Given the description of an element on the screen output the (x, y) to click on. 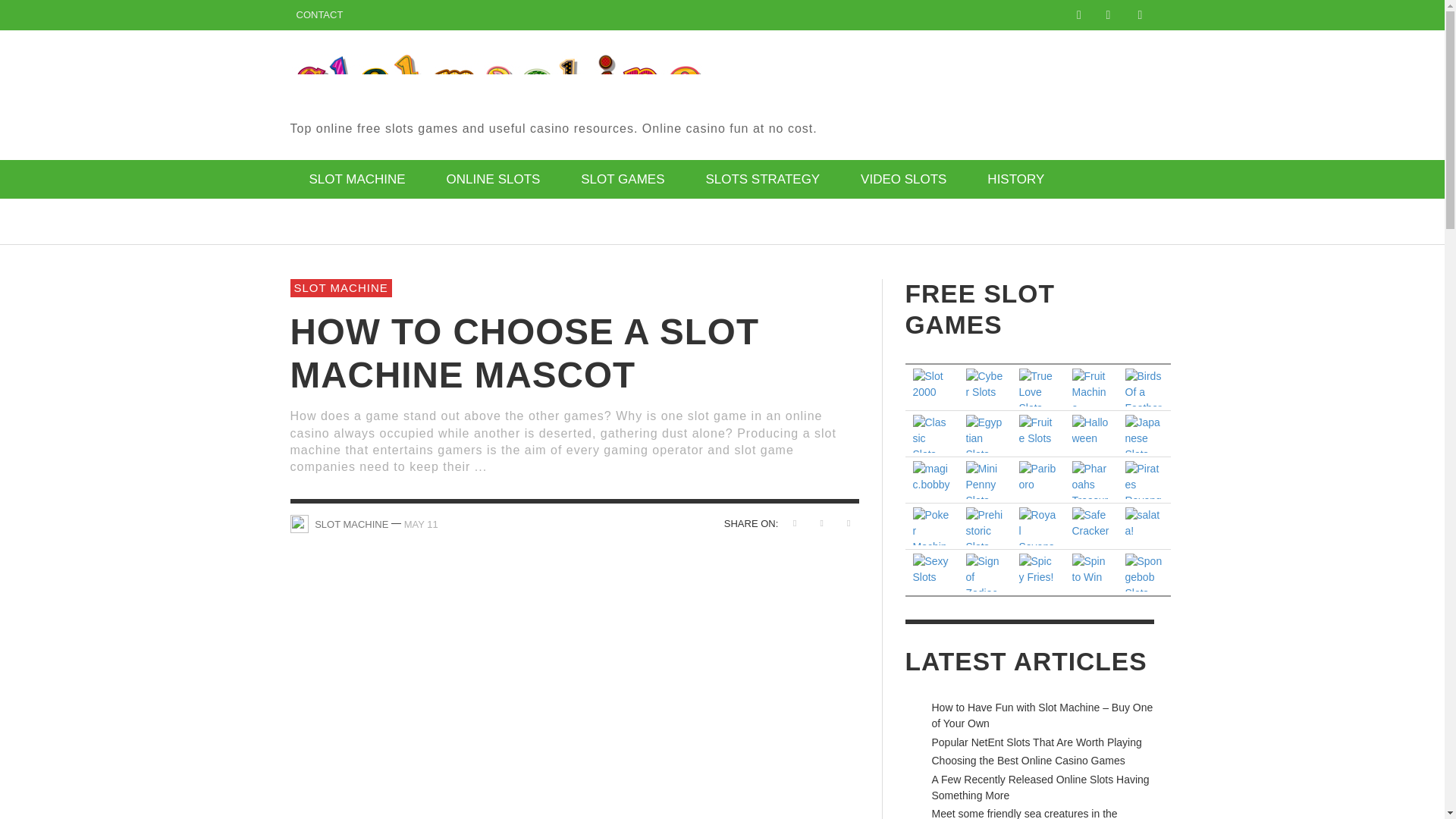
Facebook (1078, 15)
SLOT MACHINE (356, 179)
ONLINE SLOTS (493, 179)
SLOT GAMES (622, 179)
Twitter (1107, 15)
VIDEO SLOTS (903, 179)
HISTORY (1015, 179)
CONTACT (319, 15)
SLOTS STRATEGY (761, 179)
